Given the description of an element on the screen output the (x, y) to click on. 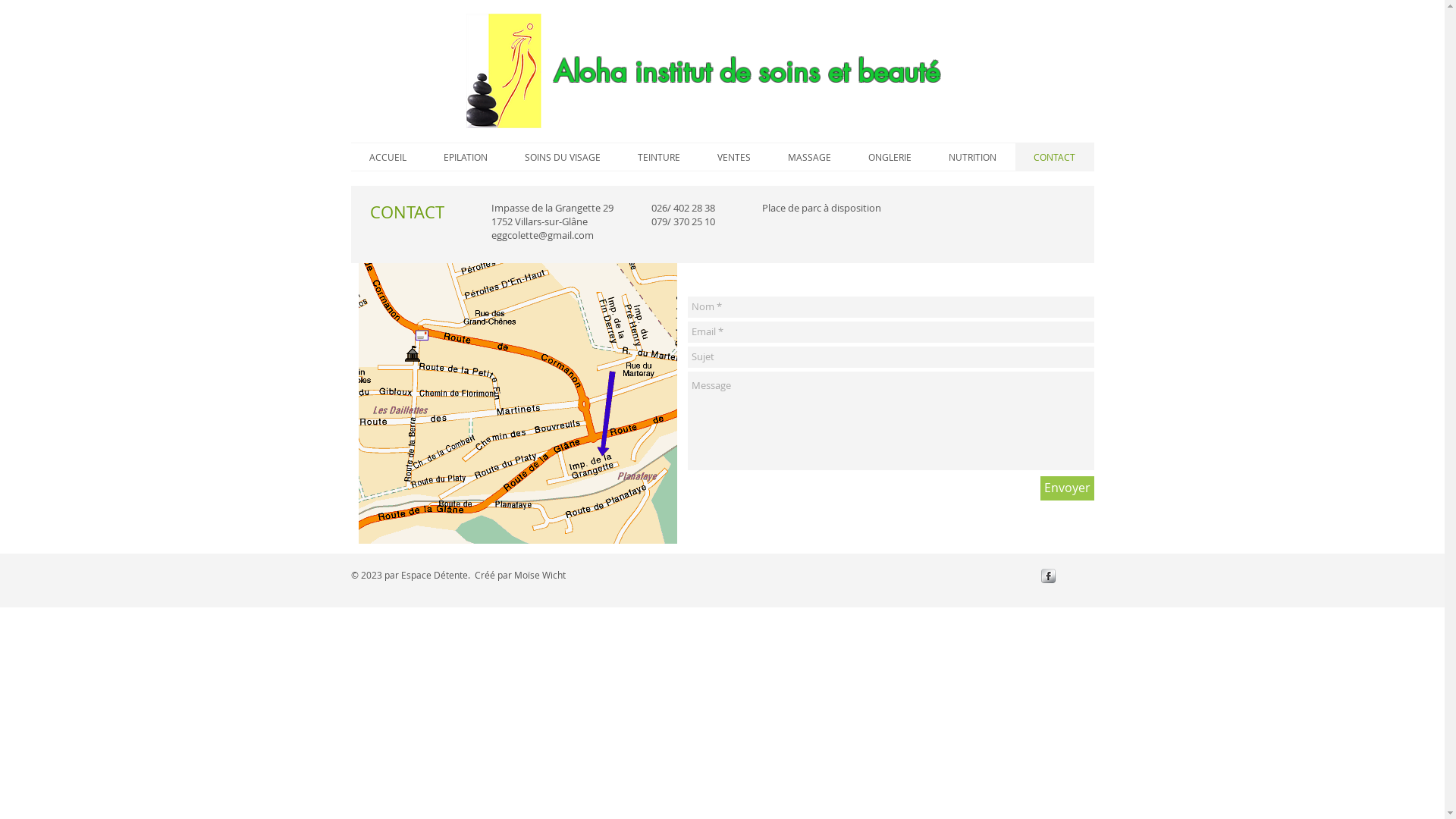
SOINS DU VISAGE Element type: text (562, 156)
CONTACT Element type: text (1053, 156)
ONGLERIE Element type: text (889, 156)
eggcolette@gmail.com Element type: text (542, 234)
NUTRITION Element type: text (971, 156)
TEINTURE Element type: text (658, 156)
MASSAGE Element type: text (808, 156)
EPILATION Element type: text (464, 156)
ACCUEIL Element type: text (387, 156)
Envoyer Element type: text (1067, 488)
VENTES Element type: text (734, 156)
